Given the description of an element on the screen output the (x, y) to click on. 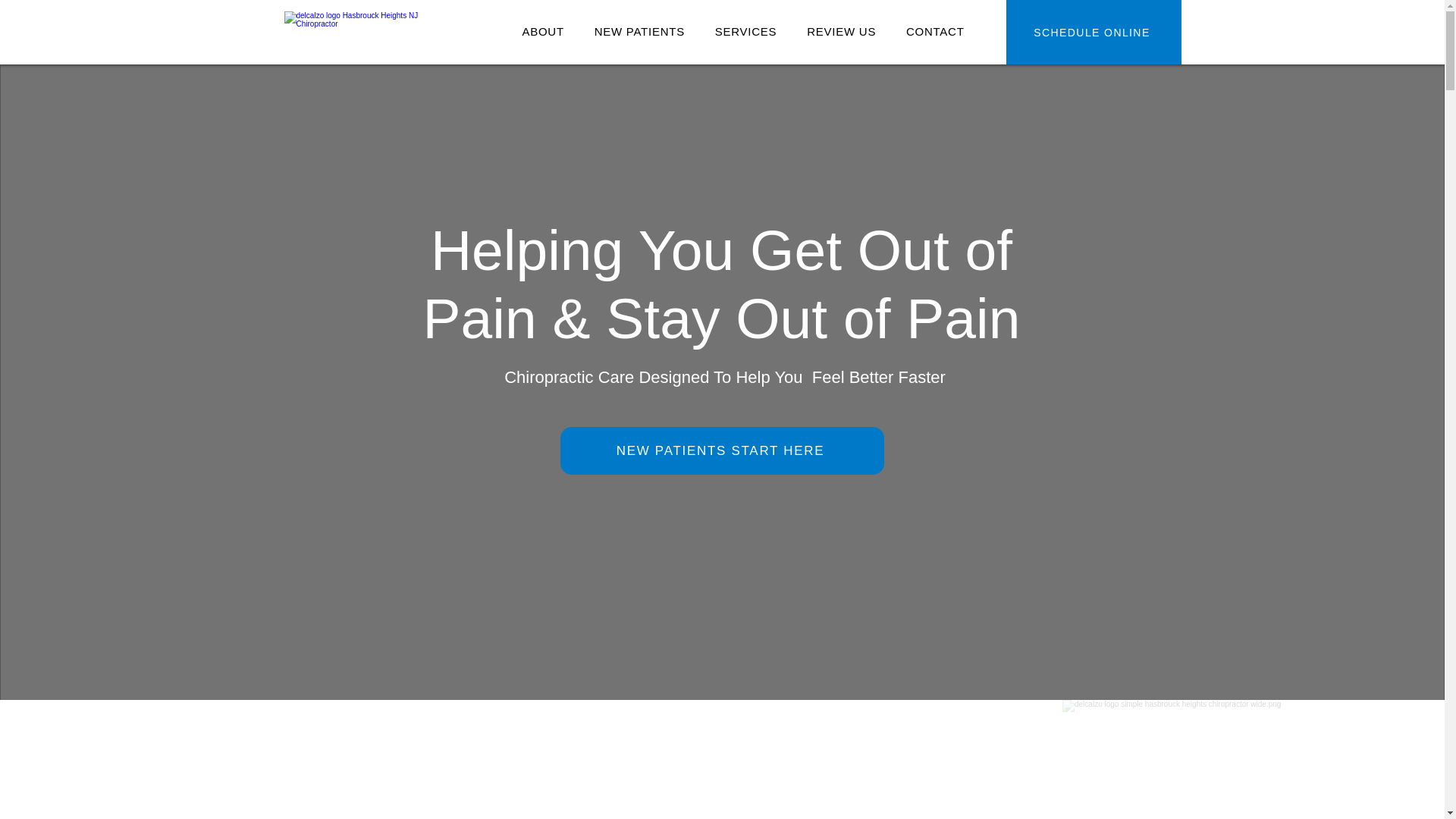
CONTACT (934, 31)
SCHEDULE ONLINE (1093, 32)
NEW PATIENTS (639, 31)
NEW PATIENTS START HERE (721, 450)
SERVICES (746, 31)
ABOUT (542, 31)
REVIEW US (841, 31)
